Given the description of an element on the screen output the (x, y) to click on. 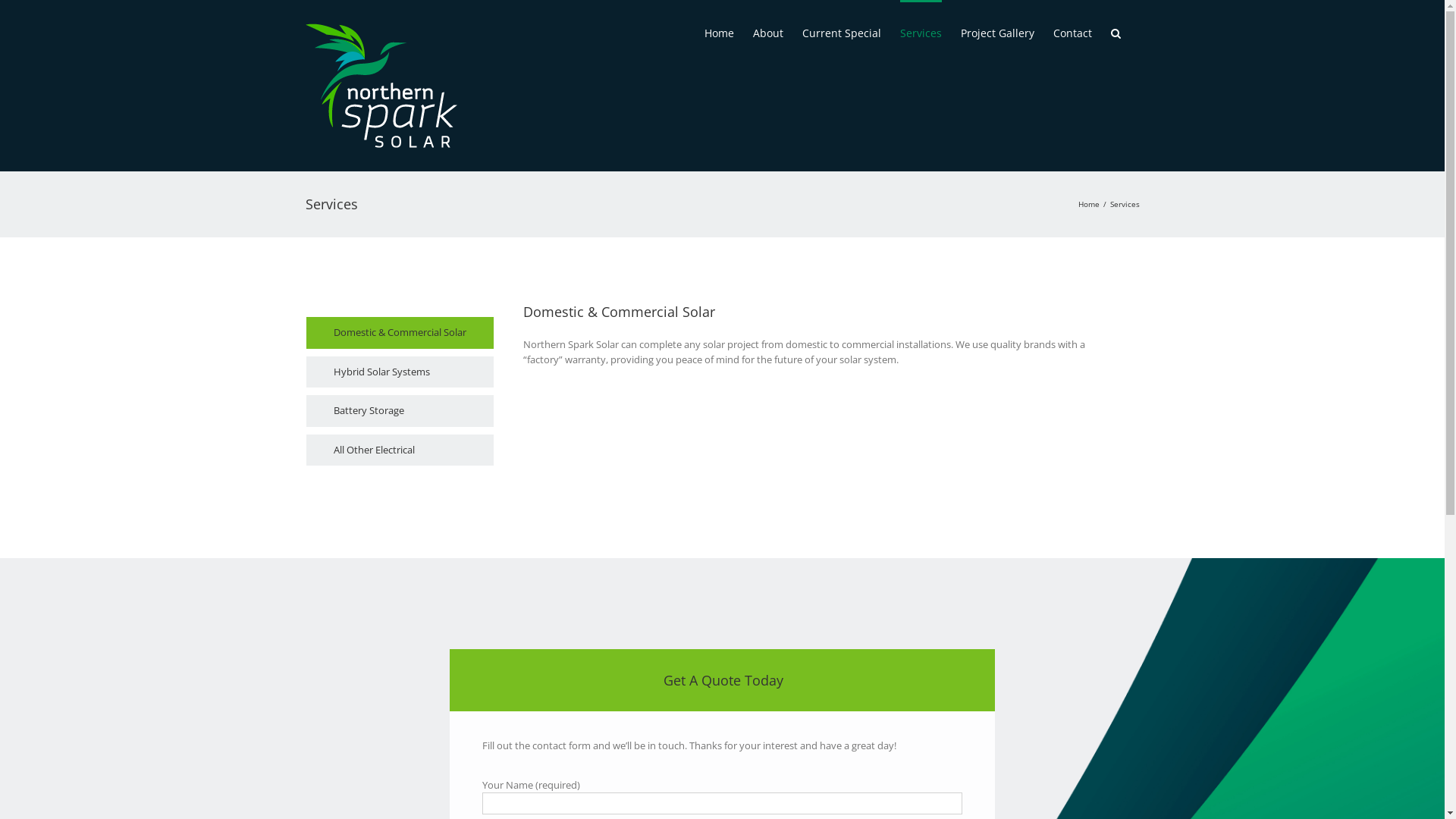
Services Element type: text (920, 31)
Contact Element type: text (1071, 31)
Battery Storage Element type: text (399, 410)
All Other Electrical Element type: text (399, 450)
Hybrid Solar Systems Element type: text (399, 372)
About Element type: text (767, 31)
Home Element type: text (718, 31)
Home Element type: text (1088, 203)
Search Element type: hover (1115, 31)
Project Gallery Element type: text (996, 31)
Current Special Element type: text (841, 31)
Domestic & Commercial Solar Element type: text (399, 332)
